Given the description of an element on the screen output the (x, y) to click on. 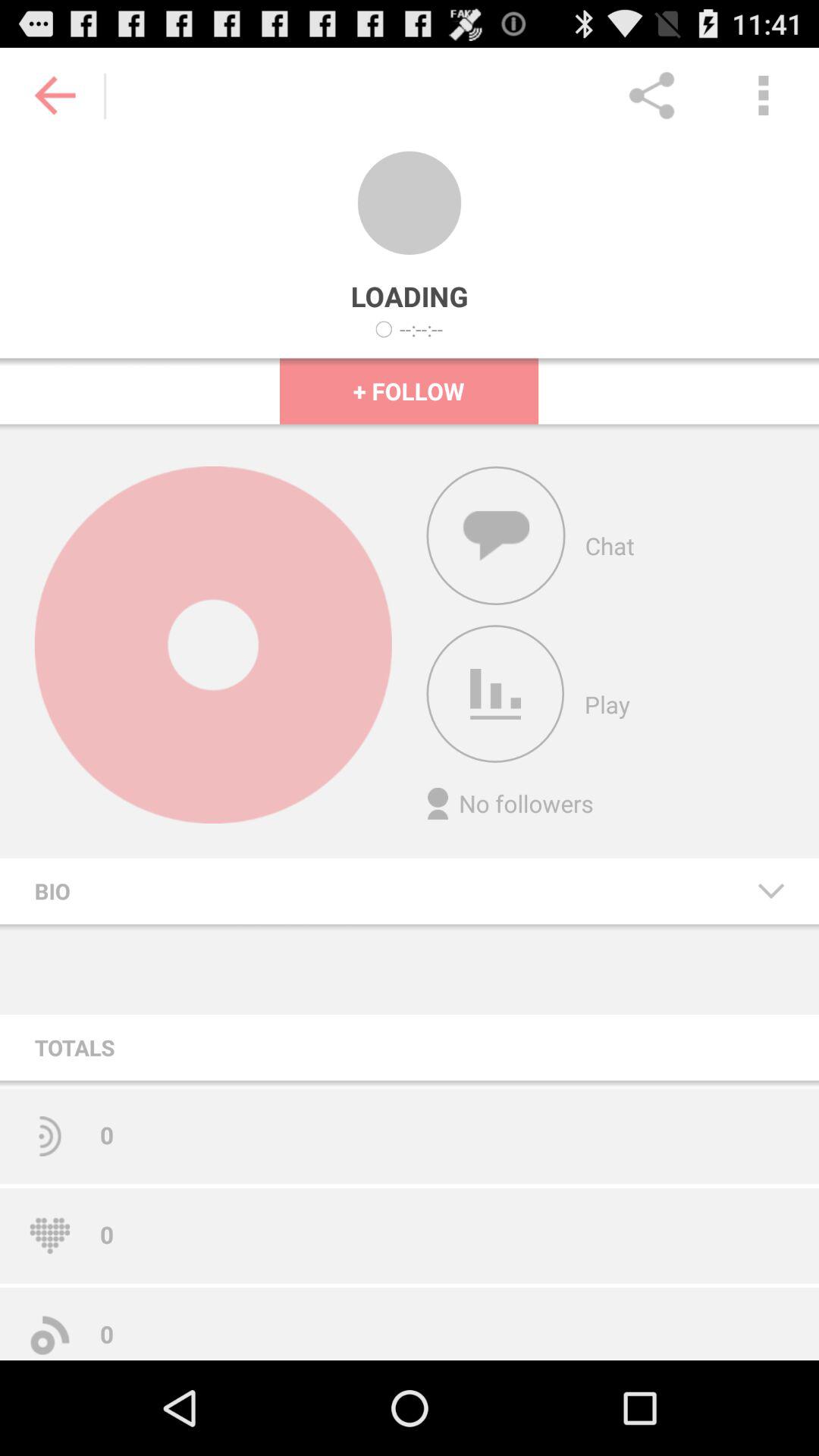
turn on the item next to bio icon (771, 891)
